Given the description of an element on the screen output the (x, y) to click on. 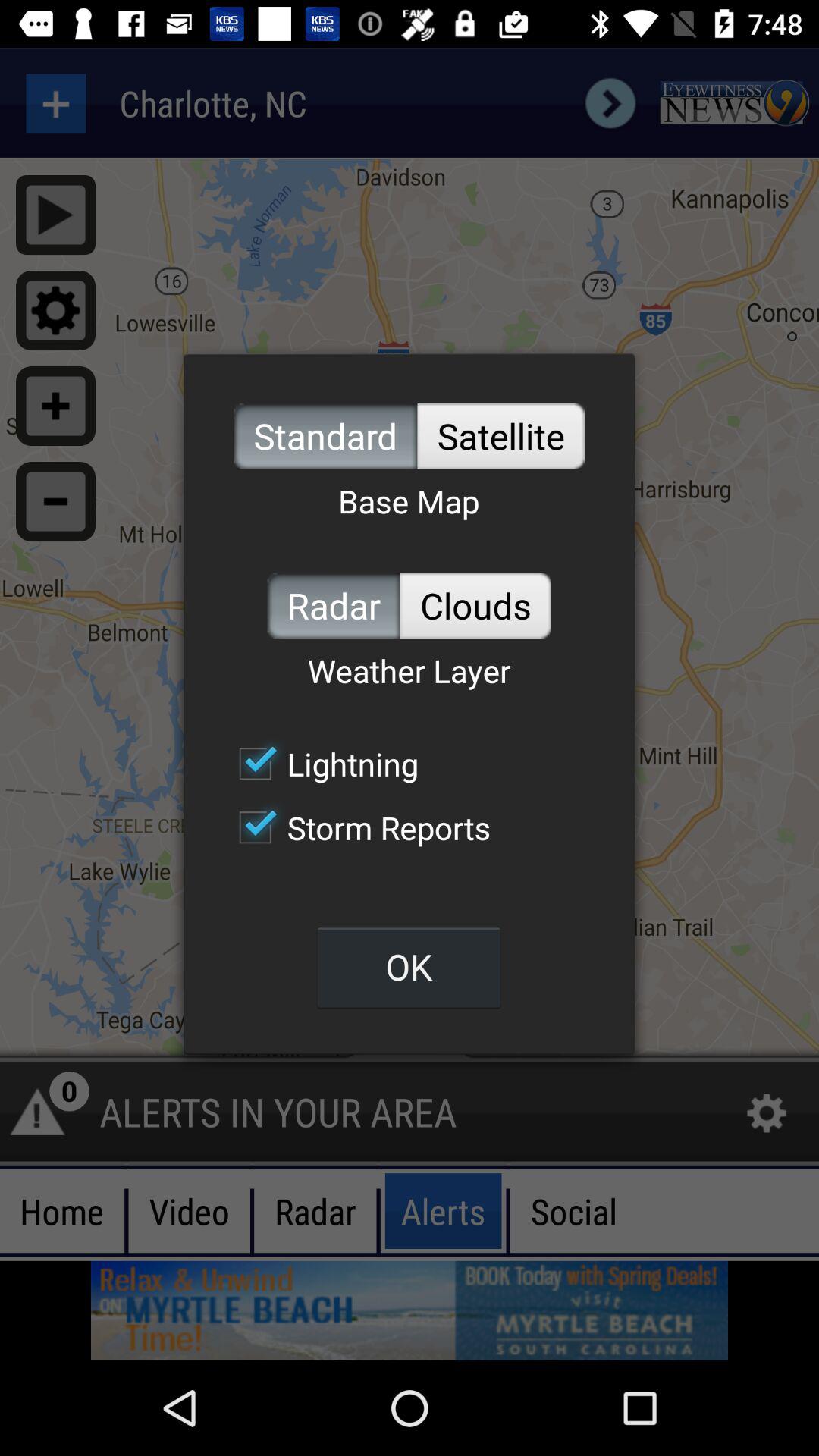
scroll until the clouds (475, 605)
